Given the description of an element on the screen output the (x, y) to click on. 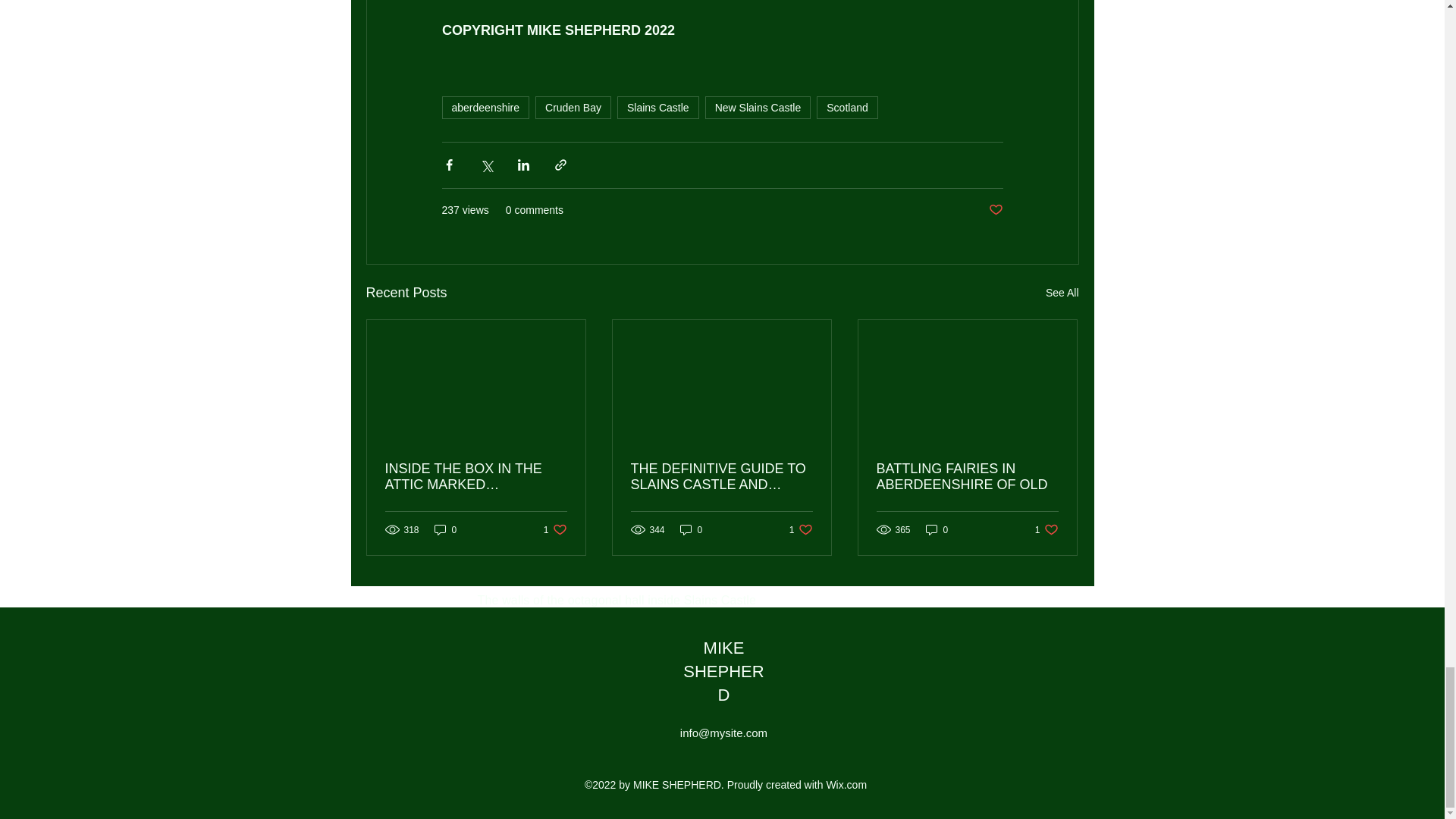
0 (691, 529)
Cruden Bay (573, 107)
0 (445, 529)
Post not marked as liked (995, 210)
THE DEFINITIVE GUIDE TO SLAINS CASTLE AND DRACULA (721, 477)
See All (1046, 529)
0 (1061, 292)
BATTLING FAIRIES IN ABERDEENSHIRE OF OLD (937, 529)
Scotland (967, 477)
